Given the description of an element on the screen output the (x, y) to click on. 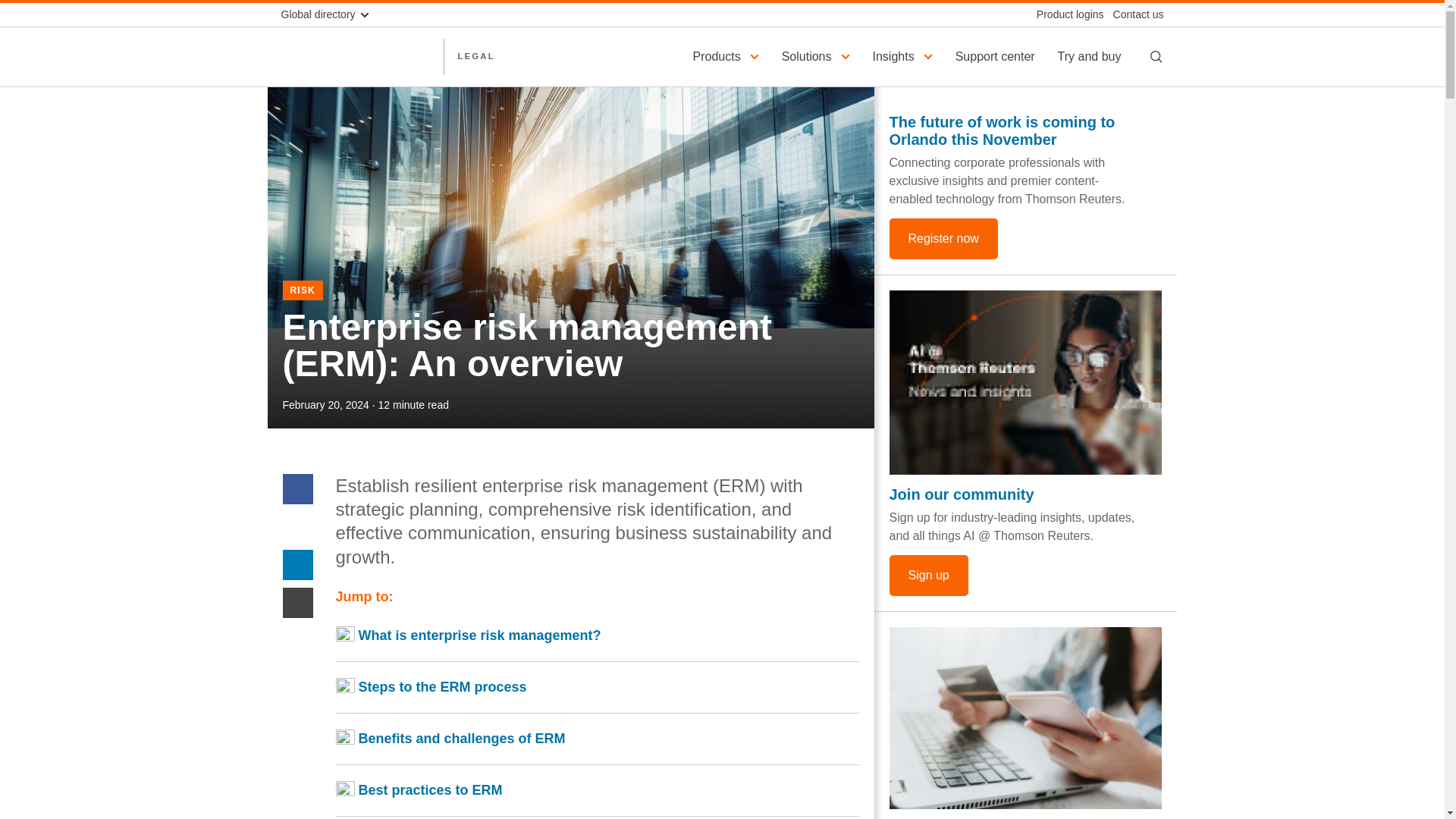
Contact us (1133, 14)
February 20, 2024 (325, 404)
Facebook (297, 487)
Twitter (297, 525)
Insights (904, 56)
Solutions (818, 56)
Linkedin (297, 563)
Product logins (1065, 14)
Global directory (331, 14)
Email (297, 601)
